Given the description of an element on the screen output the (x, y) to click on. 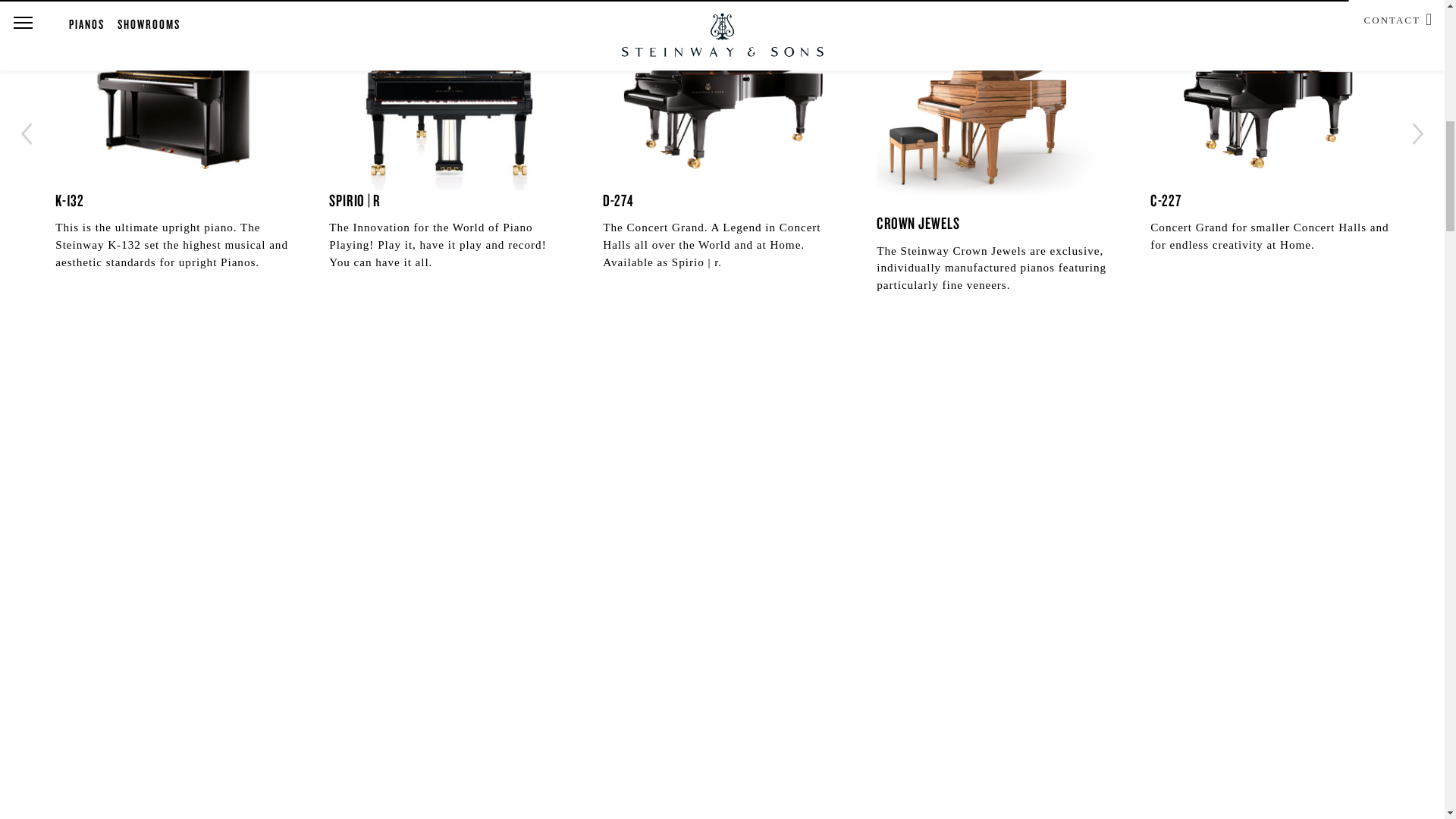
C-227 (1275, 100)
D-274 (727, 100)
Crown Jewels (1001, 112)
K-132 (180, 100)
